Given the description of an element on the screen output the (x, y) to click on. 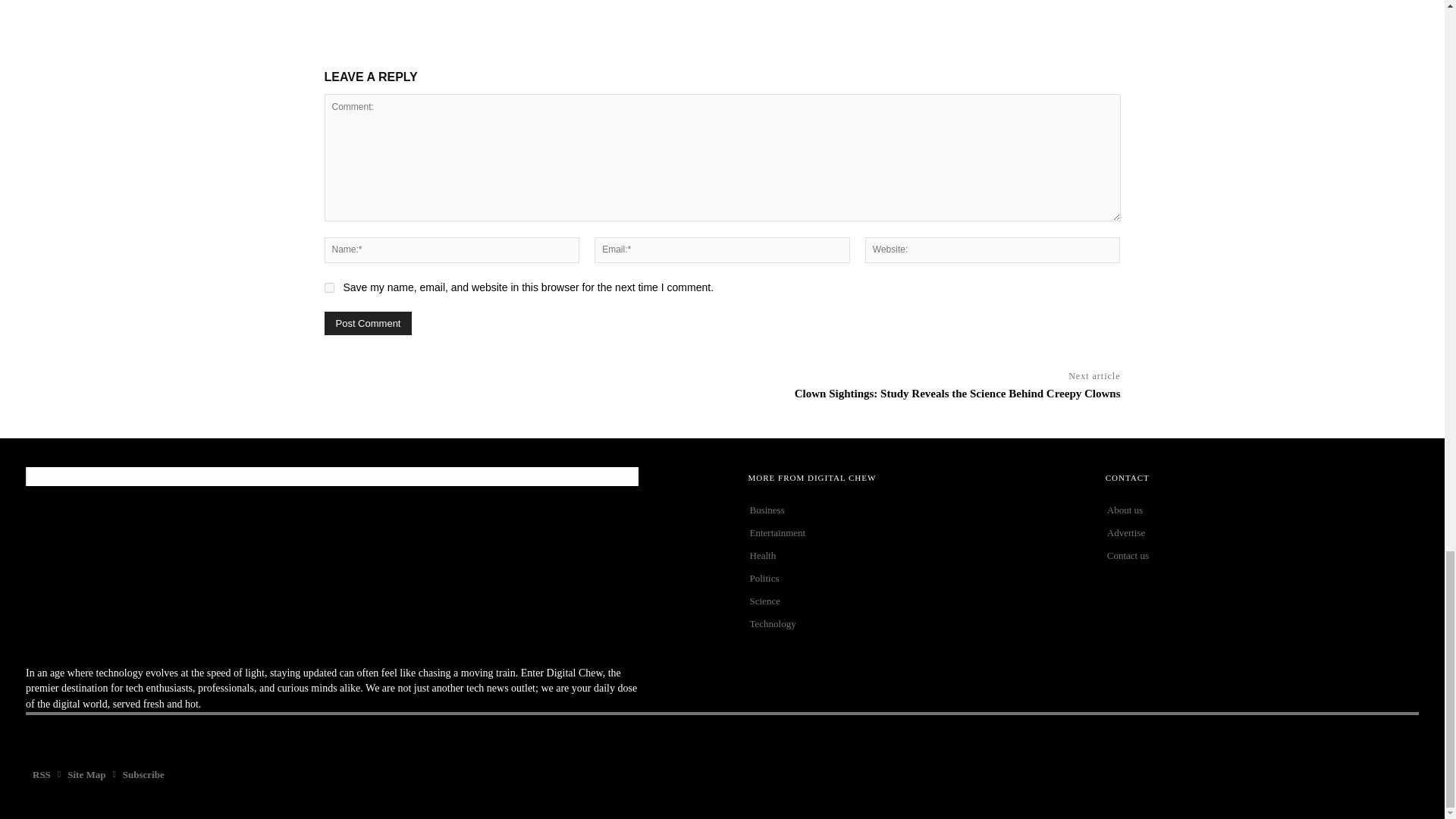
yes (329, 287)
Science (905, 600)
Contact us (1262, 555)
Business (905, 509)
Post Comment (368, 323)
RSS (42, 774)
Politics (905, 578)
Advertise (1262, 532)
Entertainment (905, 532)
